Given the description of an element on the screen output the (x, y) to click on. 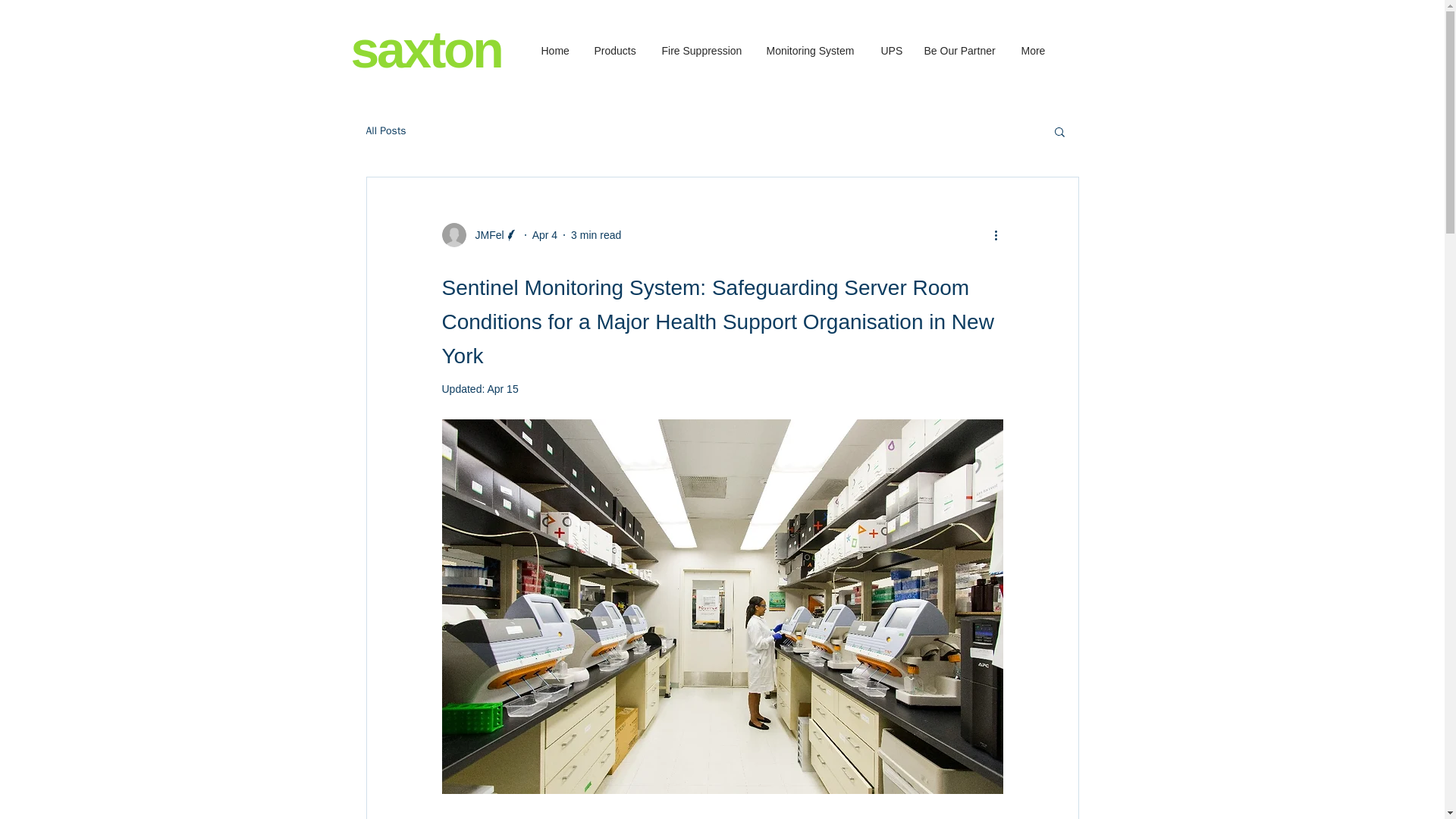
3 min read (595, 234)
Apr 15 (502, 388)
All Posts (385, 131)
Products (615, 50)
Be Our Partner (960, 50)
Home (554, 50)
JMFel (479, 234)
Apr 4 (544, 234)
JMFel (484, 235)
saxton (425, 48)
